Given the description of an element on the screen output the (x, y) to click on. 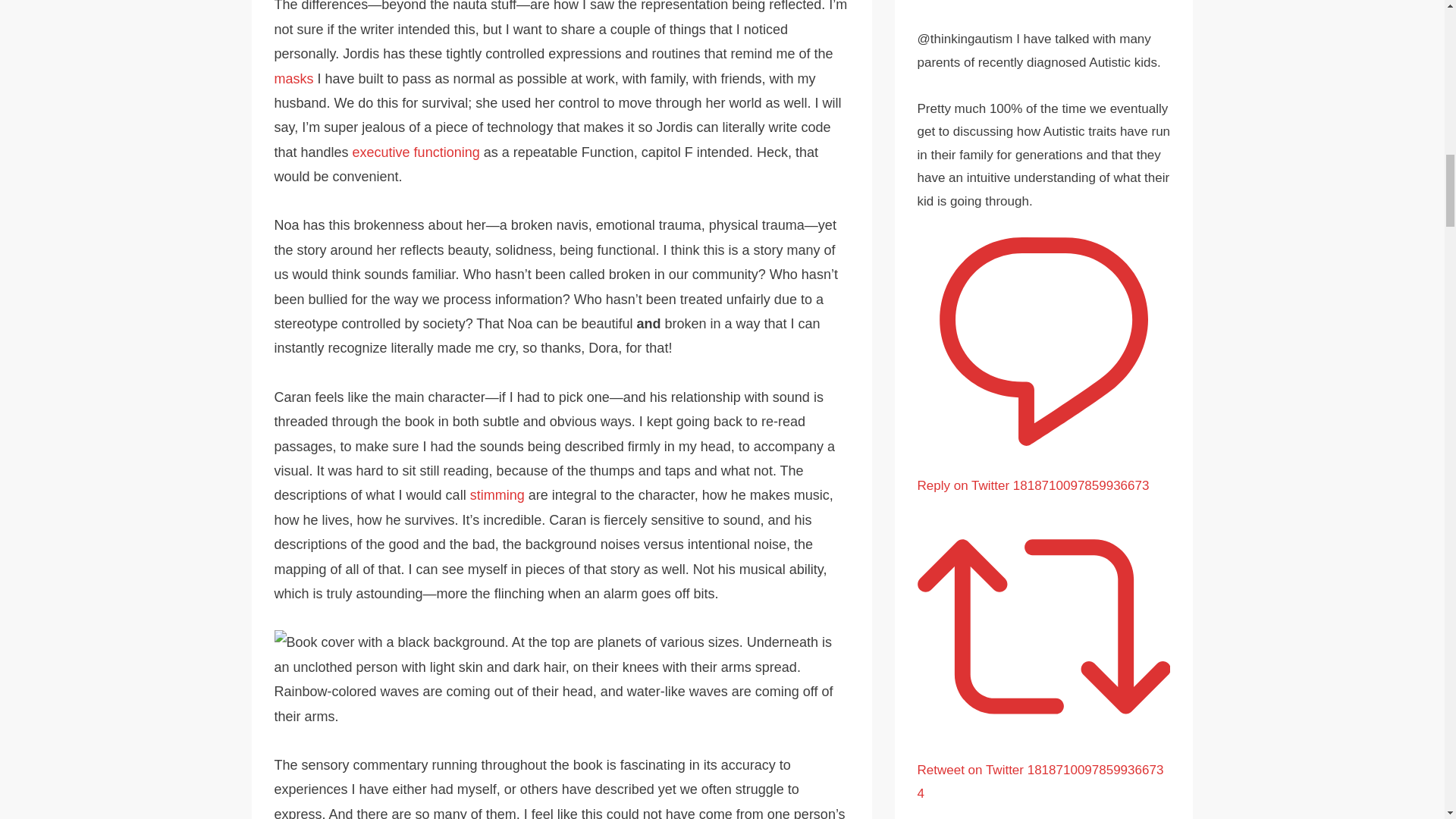
executive functioning (416, 151)
stimming (497, 494)
masks (294, 78)
